Given the description of an element on the screen output the (x, y) to click on. 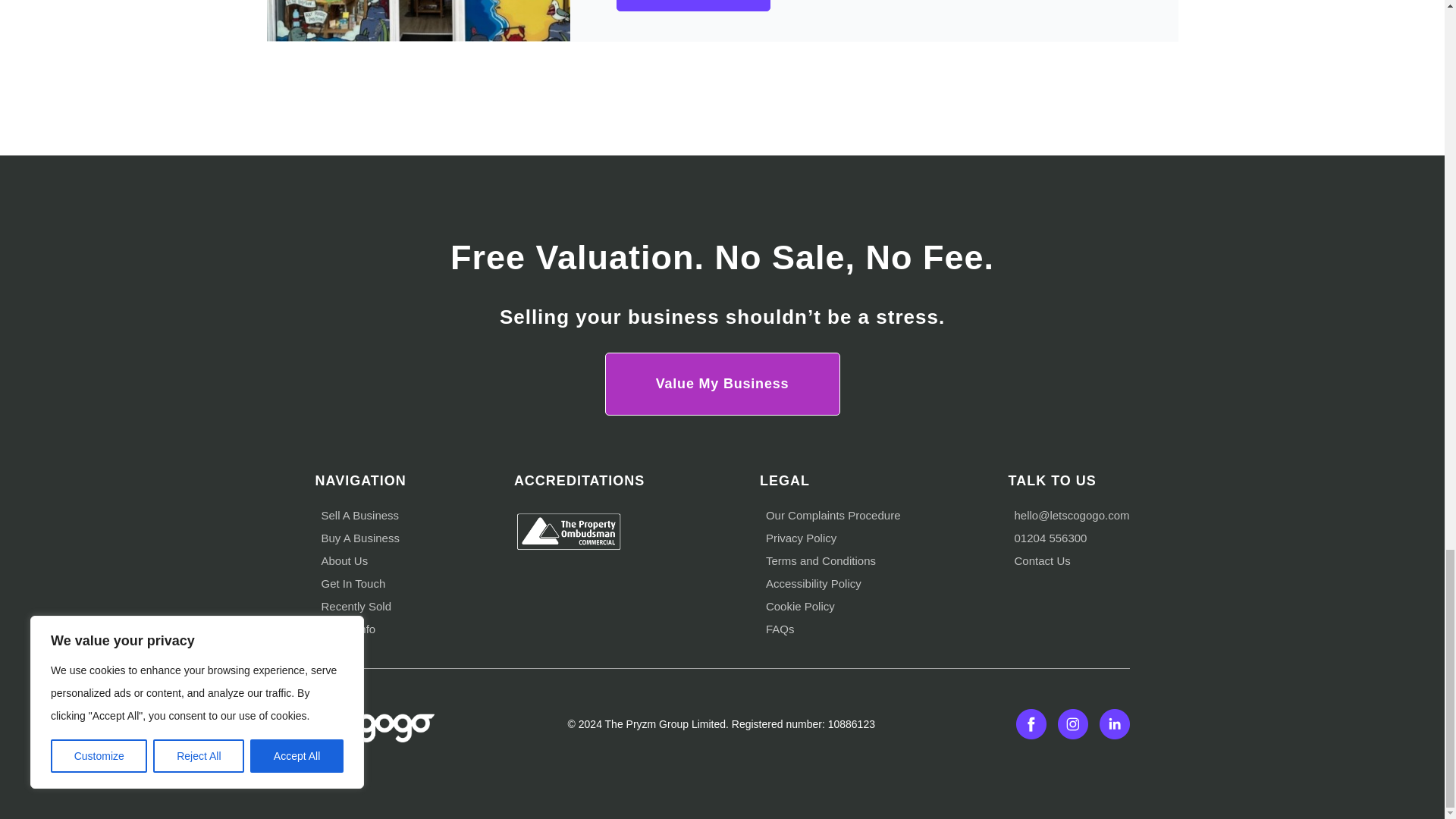
Sell A Business (359, 514)
Value My Business (722, 383)
